Given the description of an element on the screen output the (x, y) to click on. 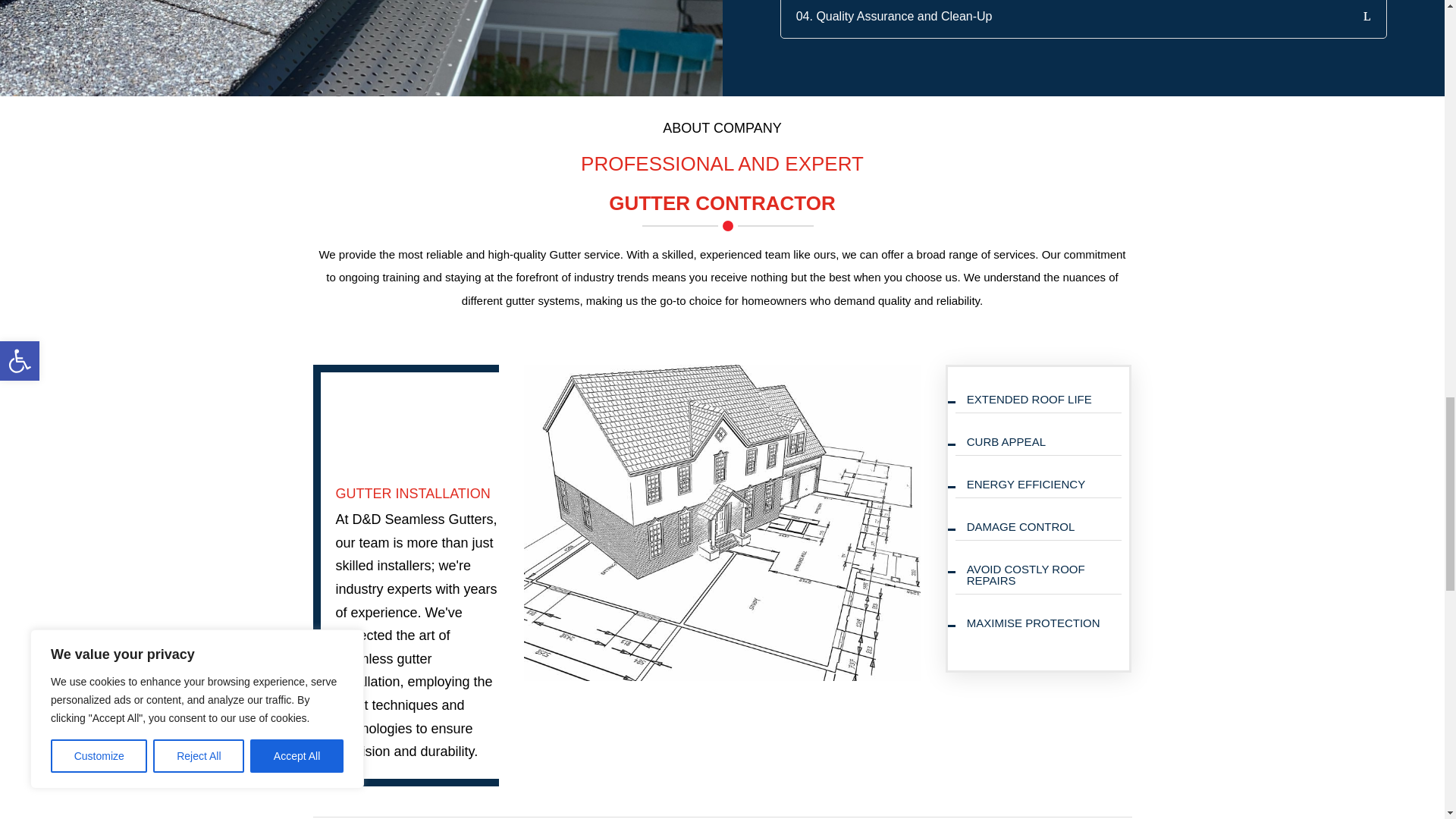
divi-roofing-theme-3 (722, 522)
